Given the description of an element on the screen output the (x, y) to click on. 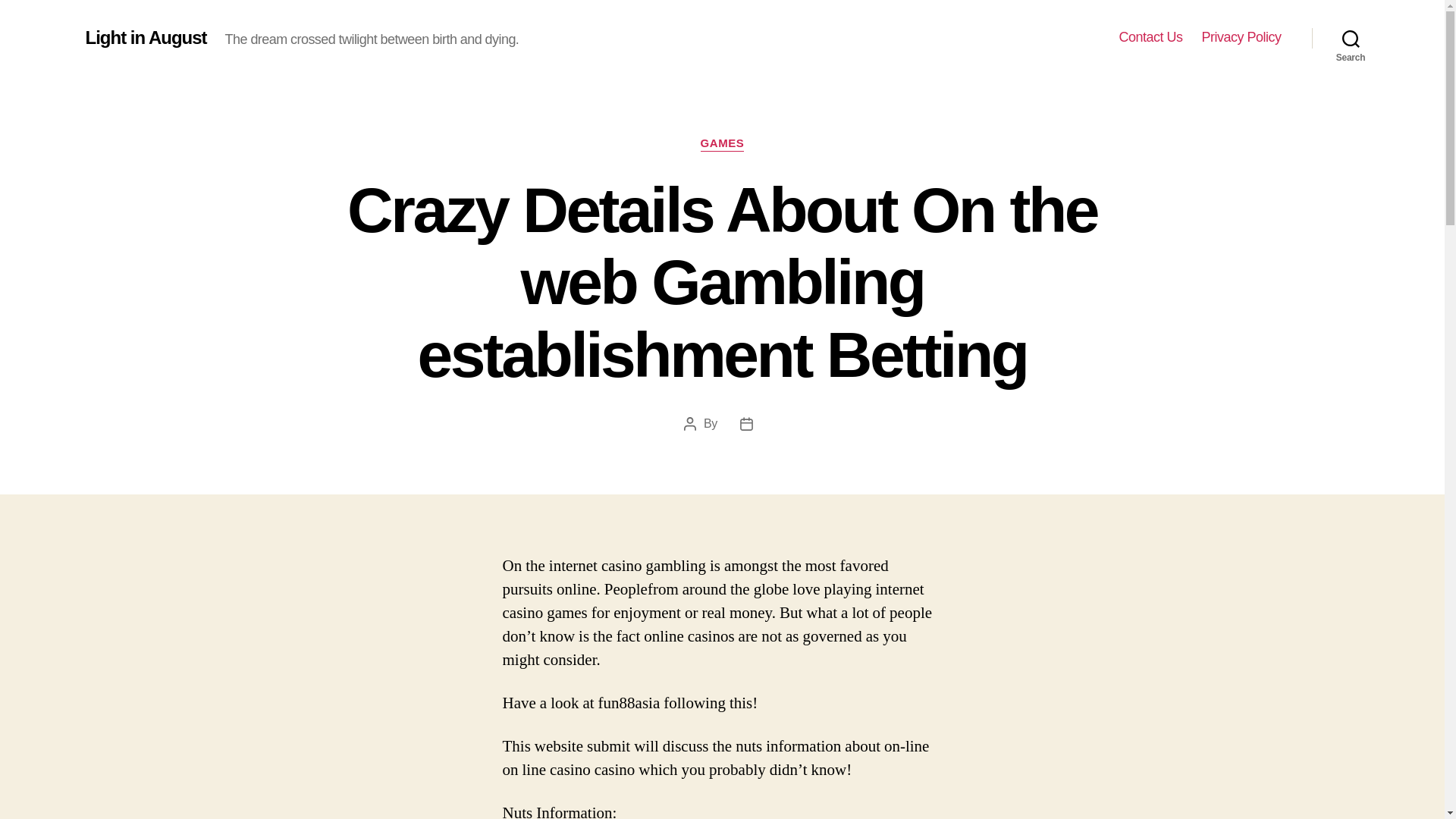
Privacy Policy (1241, 37)
Search (1350, 37)
GAMES (722, 143)
Light in August (145, 37)
Contact Us (1150, 37)
